Given the description of an element on the screen output the (x, y) to click on. 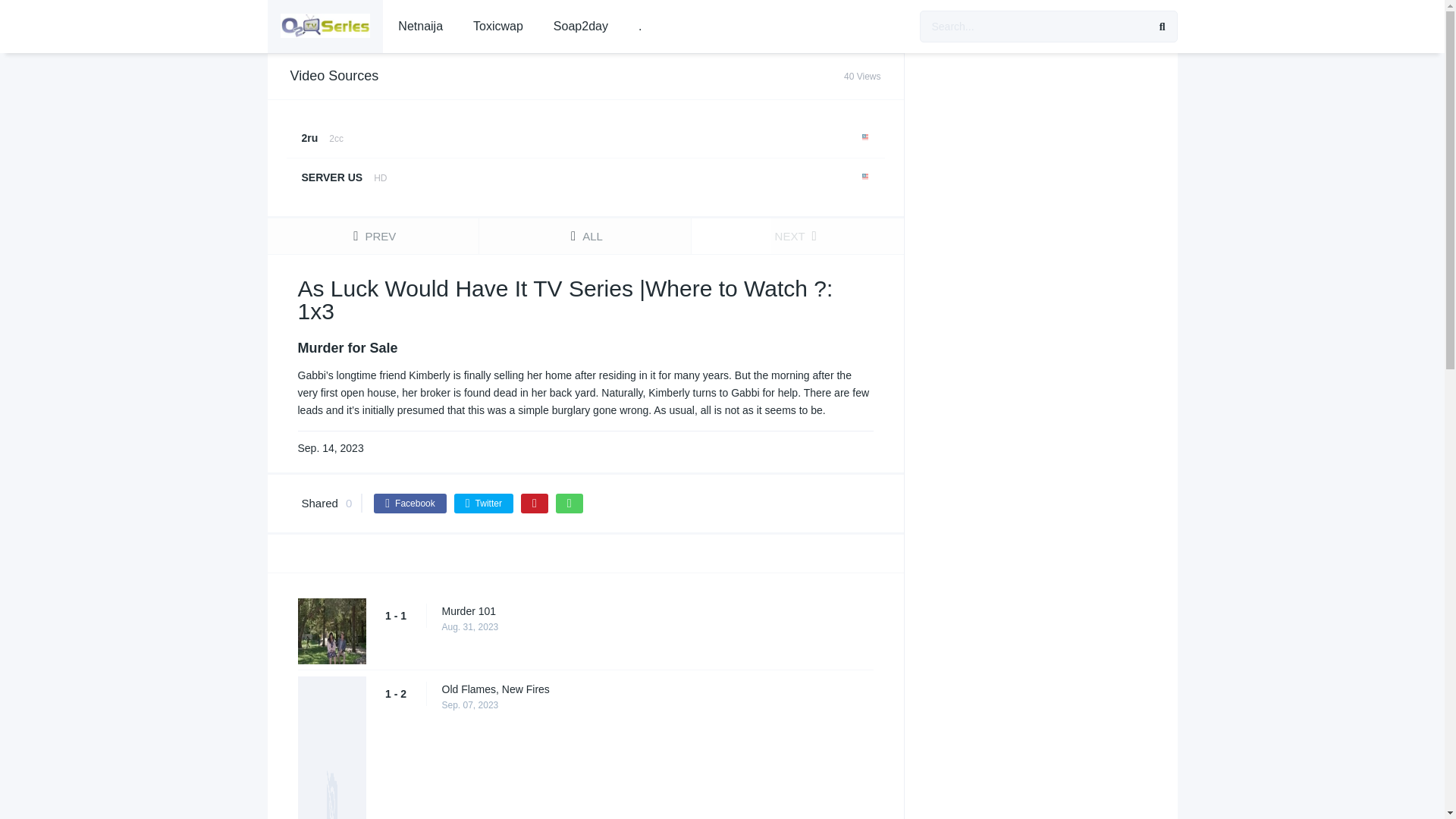
Twitter (584, 157)
Soap2day (483, 503)
Murder 101 (580, 26)
ALL (664, 611)
Netnaija (584, 235)
Facebook (420, 26)
Old Flames, New Fires (410, 503)
PREV (664, 688)
Toxicwap (372, 235)
NEXT (498, 26)
